Given the description of an element on the screen output the (x, y) to click on. 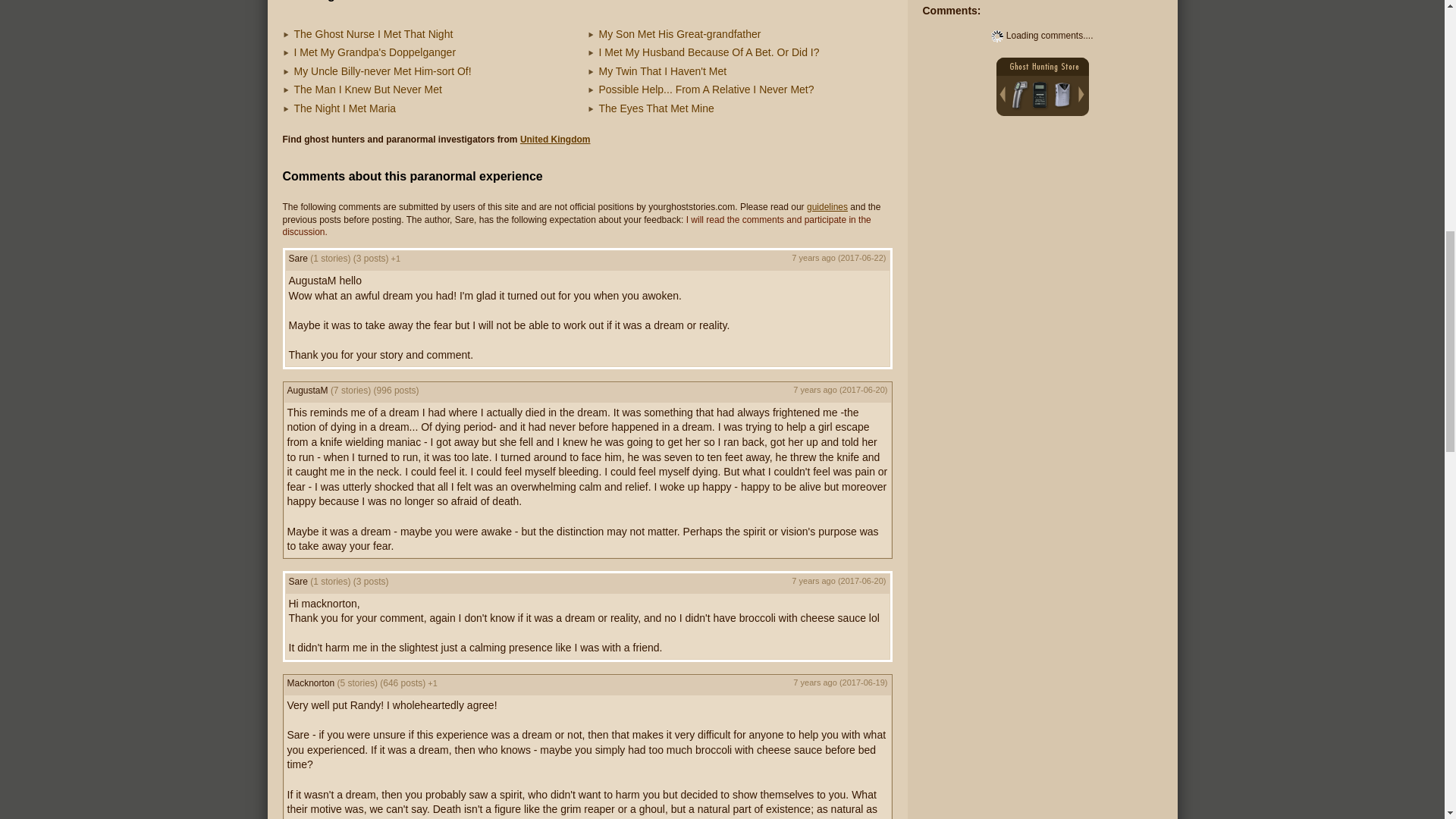
The Night I Met Maria (345, 108)
The Ghost Nurse I Met That Night (373, 33)
The Man I Knew But Never Met (368, 89)
I Met My Grandpa's Doppelganger (375, 51)
My Uncle Billy-never Met Him-sort Of! (382, 70)
My Twin That I Haven't Met (662, 70)
Possible Help... From A Relative I Never Met? (705, 89)
My Son Met His Great-grandfather (679, 33)
I Met My Husband Because Of A Bet. Or Did I? (708, 51)
